Given the description of an element on the screen output the (x, y) to click on. 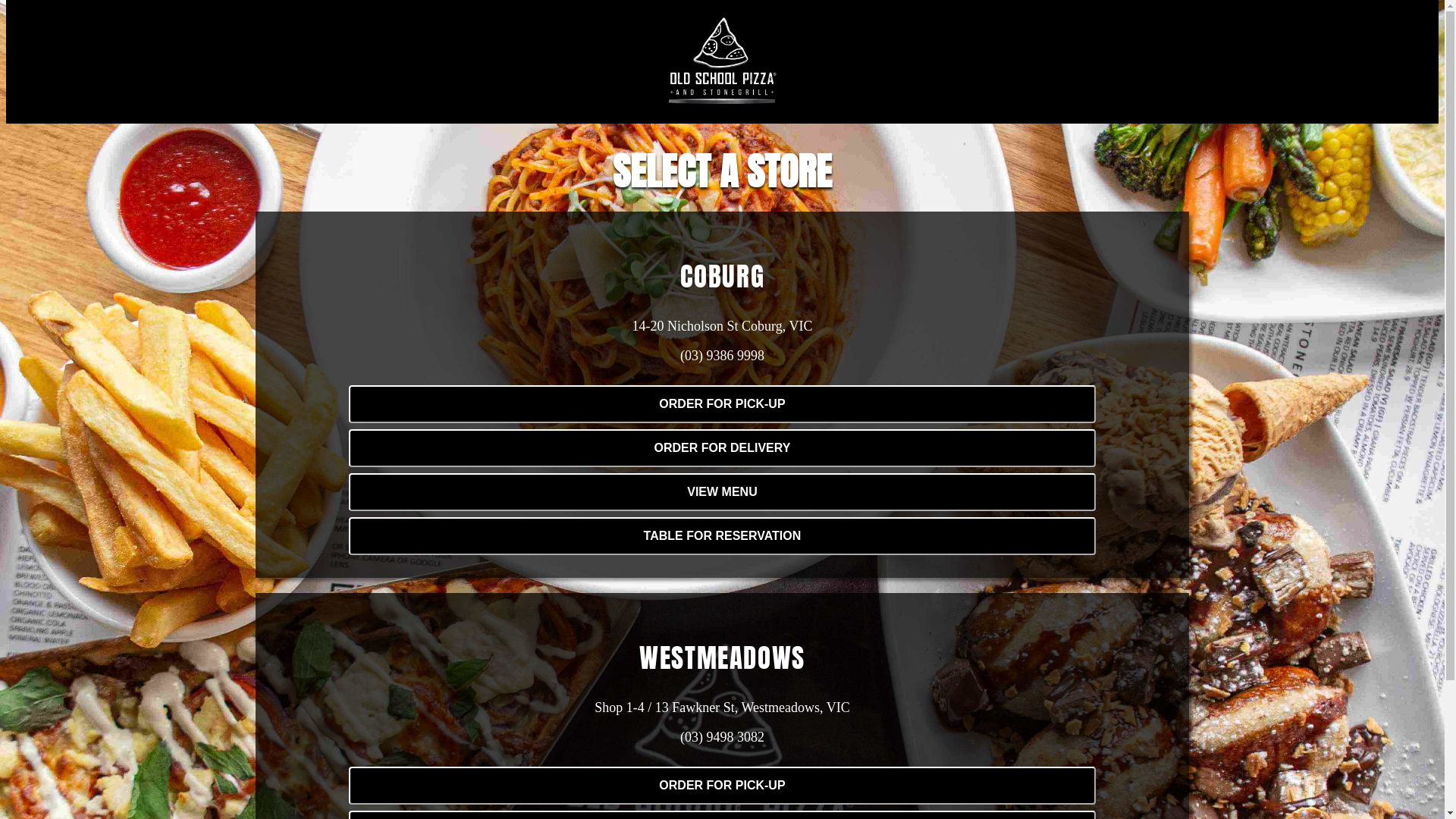
TABLE FOR RESERVATION Element type: text (721, 536)
ORDER FOR PICK-UP Element type: text (721, 403)
TABLE FOR RESERVATION Element type: text (721, 535)
VIEW MENU Element type: text (721, 492)
ORDER FOR PICK-UP Element type: text (721, 785)
ORDER FOR PICK-UP Element type: text (721, 784)
ORDER FOR DELIVERY Element type: text (721, 448)
VIEW MENU Element type: text (721, 491)
ORDER FOR PICK-UP Element type: text (721, 404)
ORDER FOR DELIVERY Element type: text (721, 447)
